Given the description of an element on the screen output the (x, y) to click on. 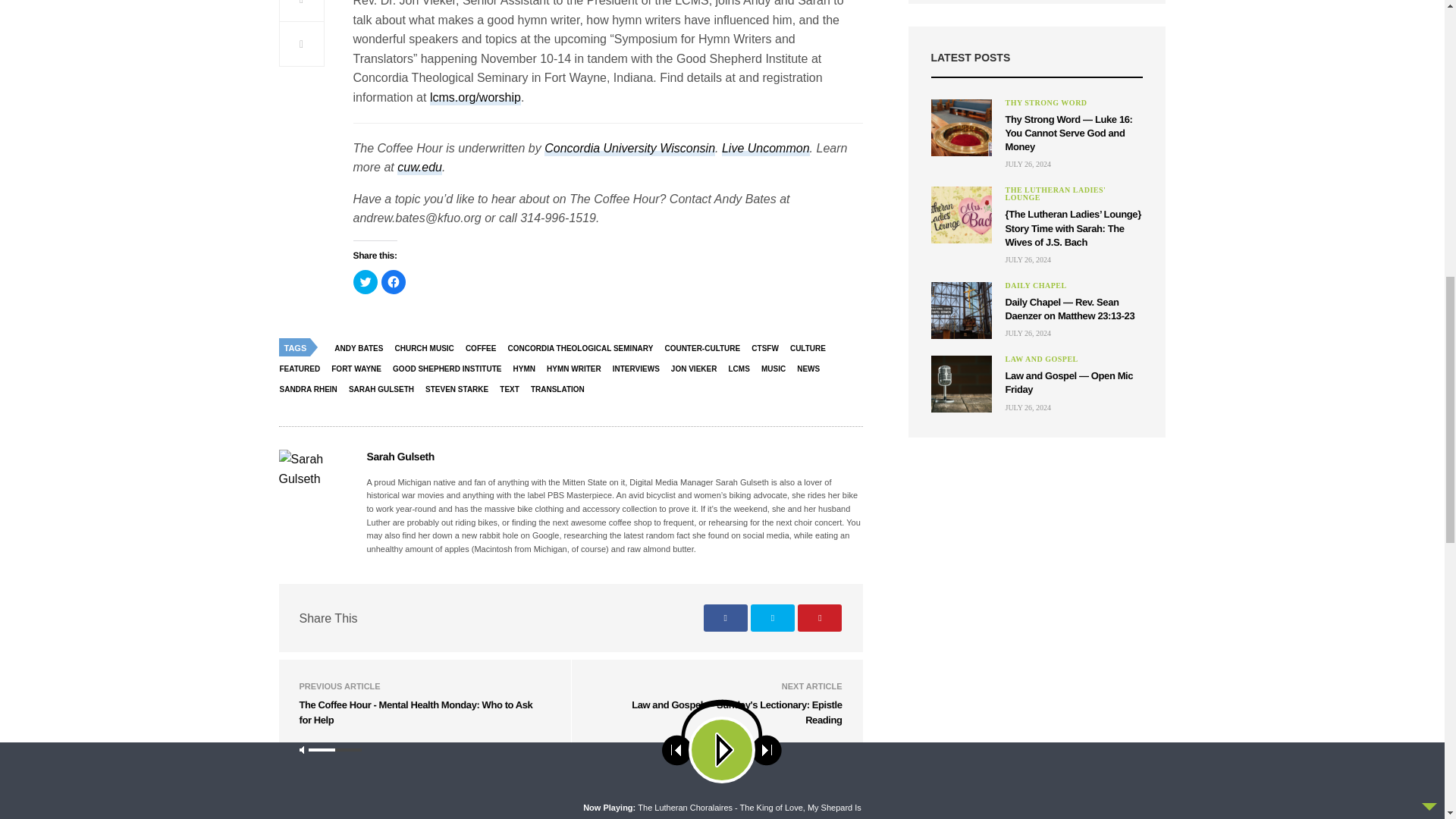
Click to share on Facebook (392, 282)
Click to share on Twitter (365, 282)
